Given the description of an element on the screen output the (x, y) to click on. 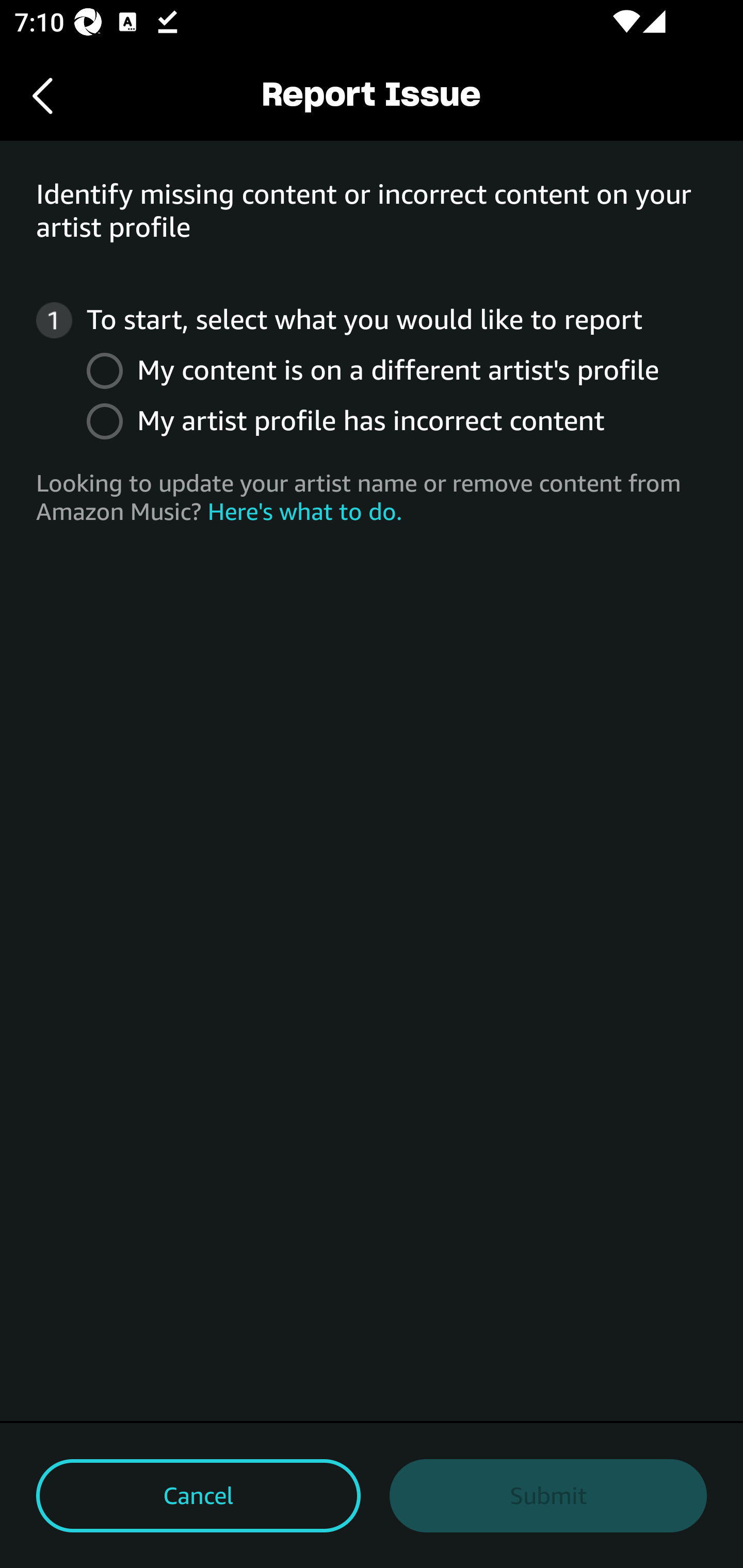
Cancel button Cancel (198, 1495)
Submit button Submit (547, 1495)
